Given the description of an element on the screen output the (x, y) to click on. 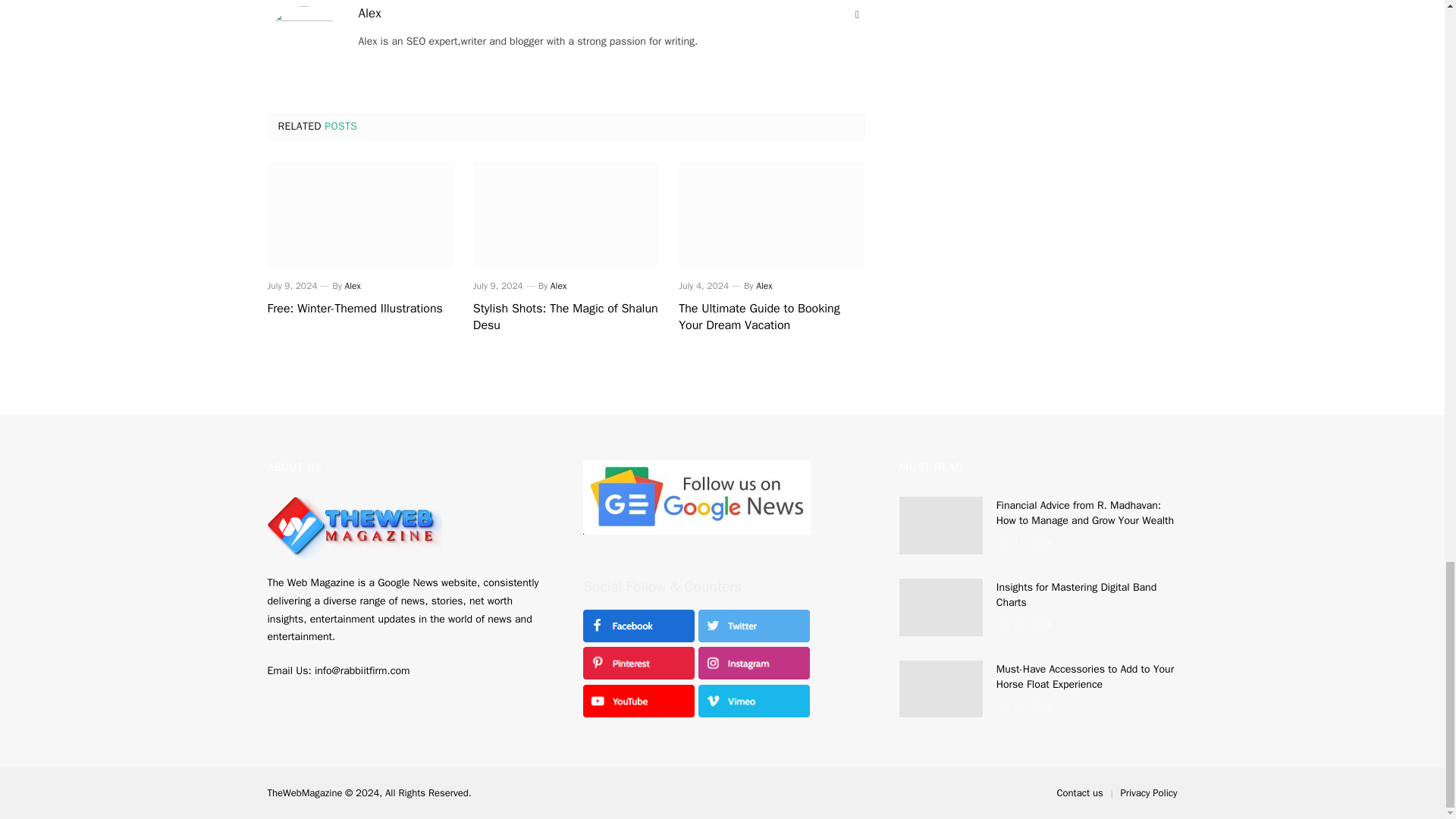
Website (856, 14)
Alex (369, 13)
Posts by Alex (353, 285)
Alex (558, 285)
Posts by Alex (369, 13)
Stylish Shots: The Magic of Shalun Desu (566, 214)
Alex (353, 285)
The Ultimate Guide to Booking Your Dream Vacation (771, 317)
Free: Winter-Themed Illustrations (359, 214)
Website (856, 14)
Posts by Alex (558, 285)
Alex (763, 285)
Free: Winter-Themed Illustrations (359, 309)
Stylish Shots: The Magic of Shalun Desu (566, 317)
